Given the description of an element on the screen output the (x, y) to click on. 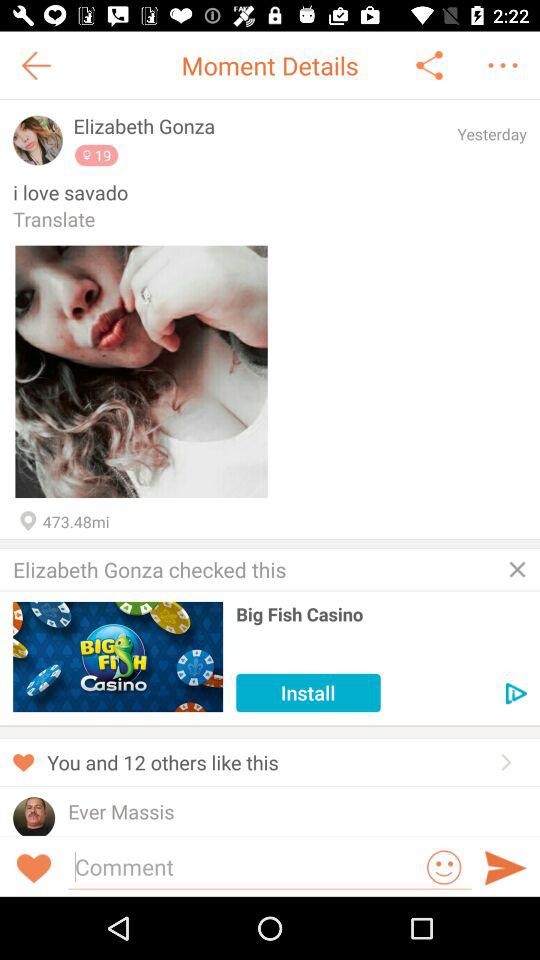
open the icon above install item (381, 613)
